Given the description of an element on the screen output the (x, y) to click on. 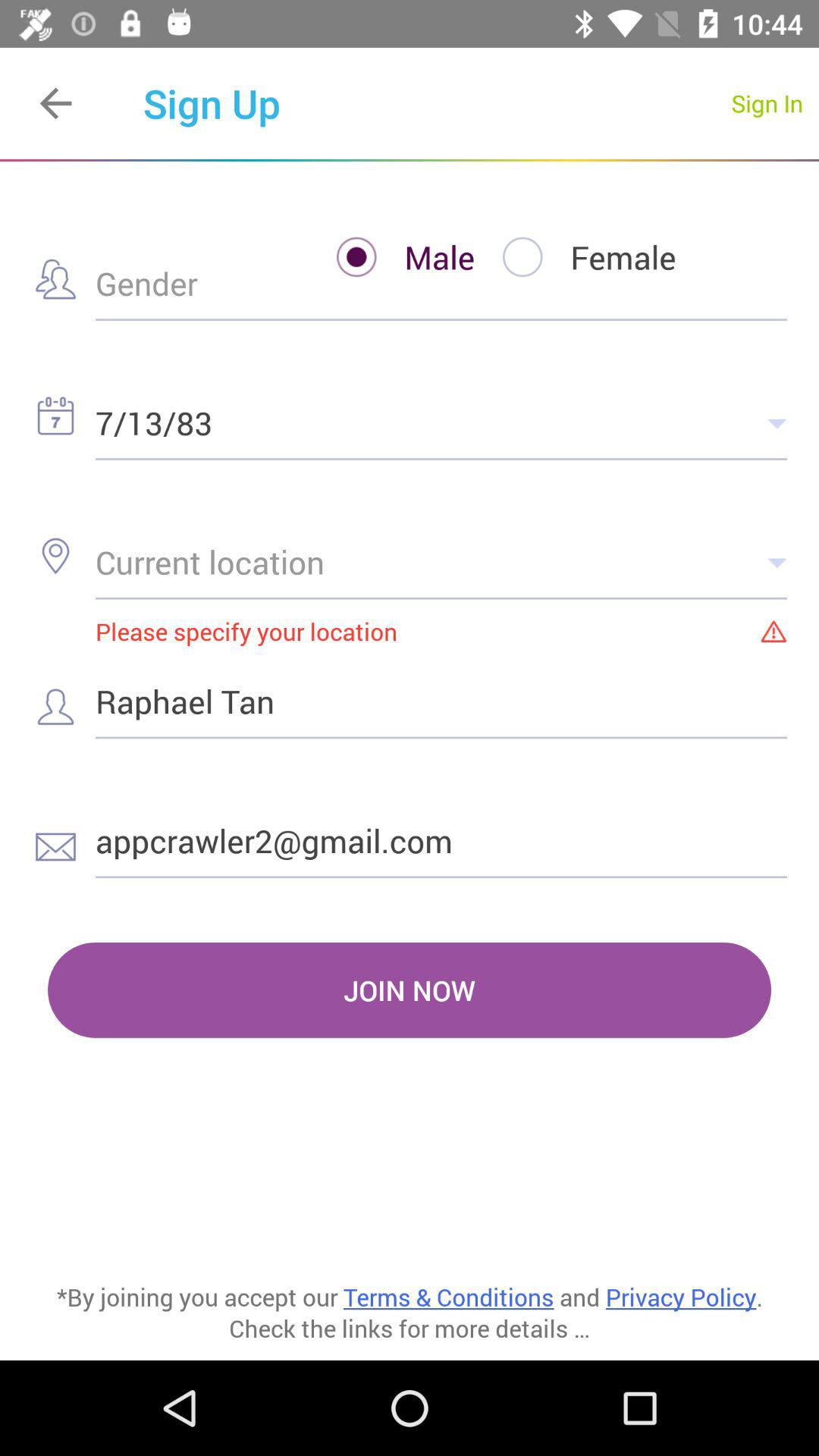
select the item to the right of gender (391, 256)
